Given the description of an element on the screen output the (x, y) to click on. 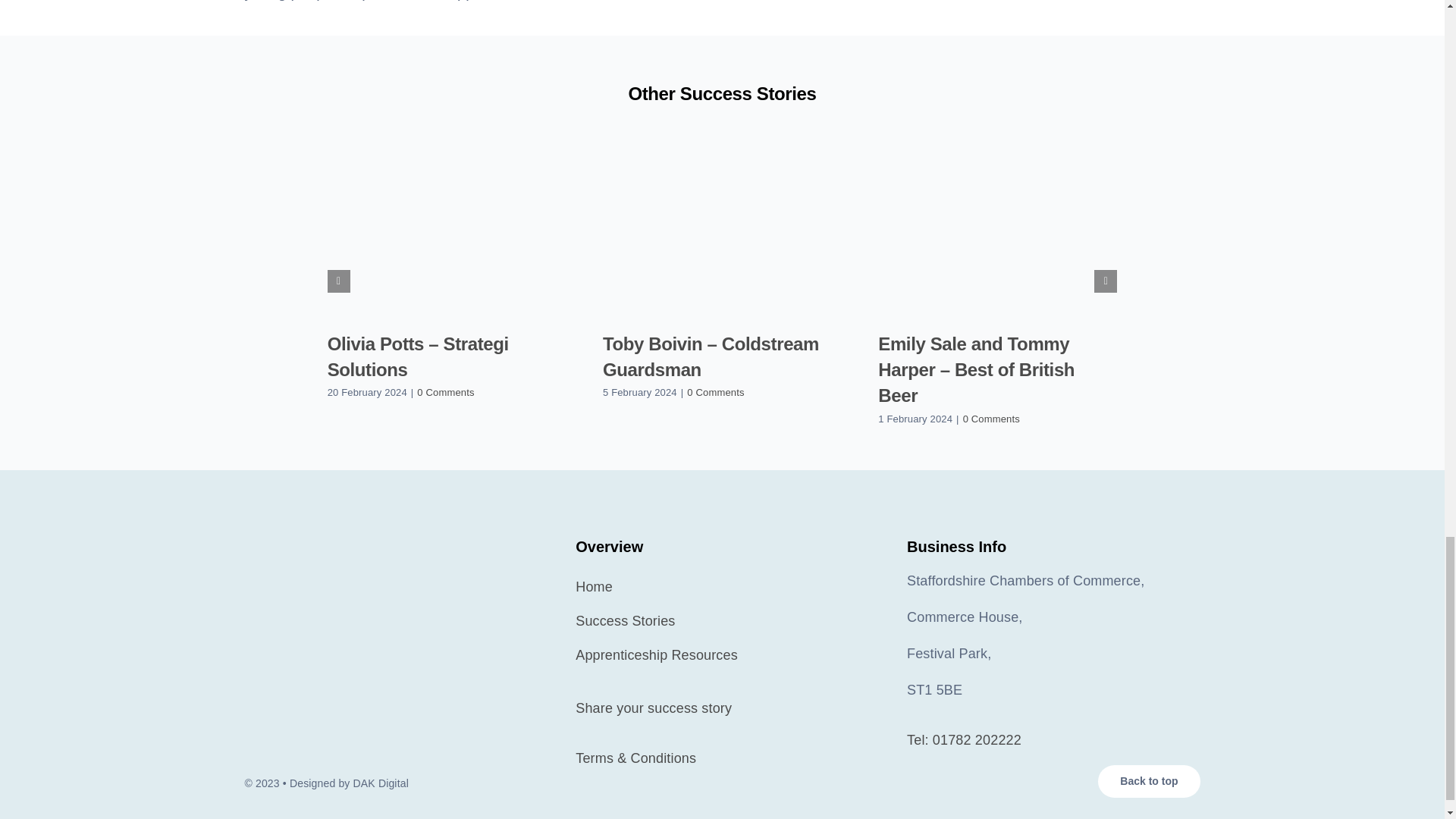
0 Comments (991, 419)
0 Comments (445, 392)
0 Comments (715, 392)
